Given the description of an element on the screen output the (x, y) to click on. 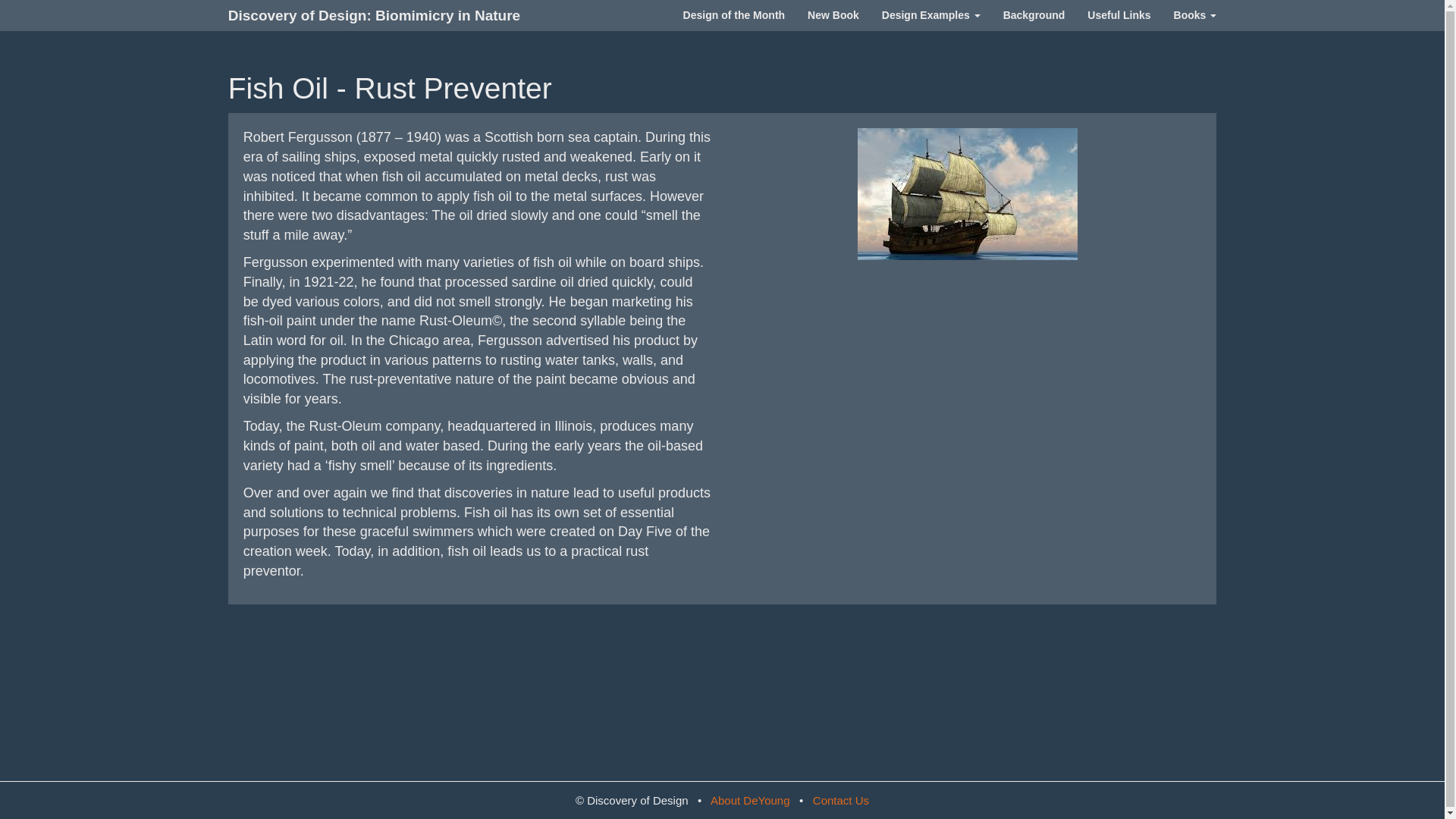
Books (1194, 15)
Background (1034, 15)
Useful Links (1118, 15)
Discovery of Design: Biomimicry in Nature (373, 15)
New Book (833, 15)
Design Examples (930, 15)
Design of the Month (733, 15)
